Given the description of an element on the screen output the (x, y) to click on. 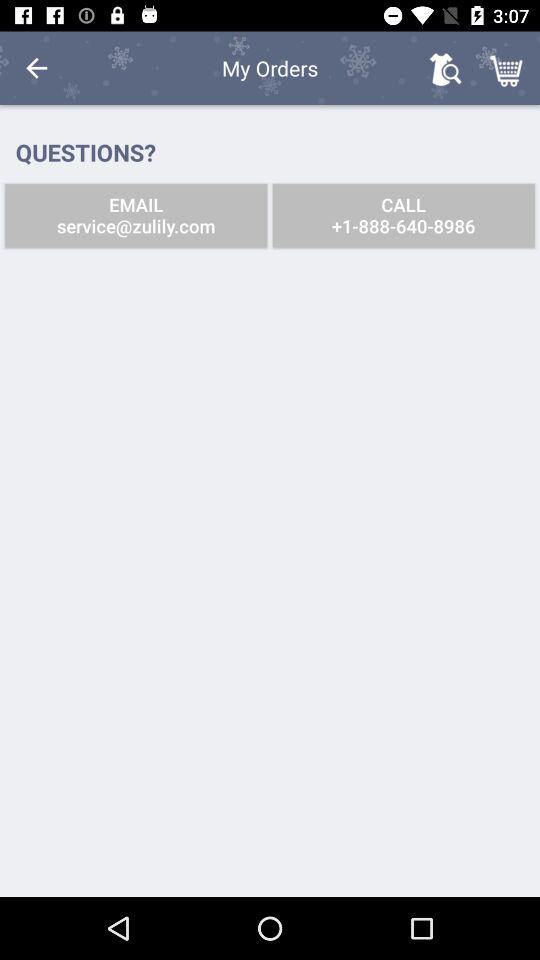
swipe to the call 1 888 item (403, 215)
